Given the description of an element on the screen output the (x, y) to click on. 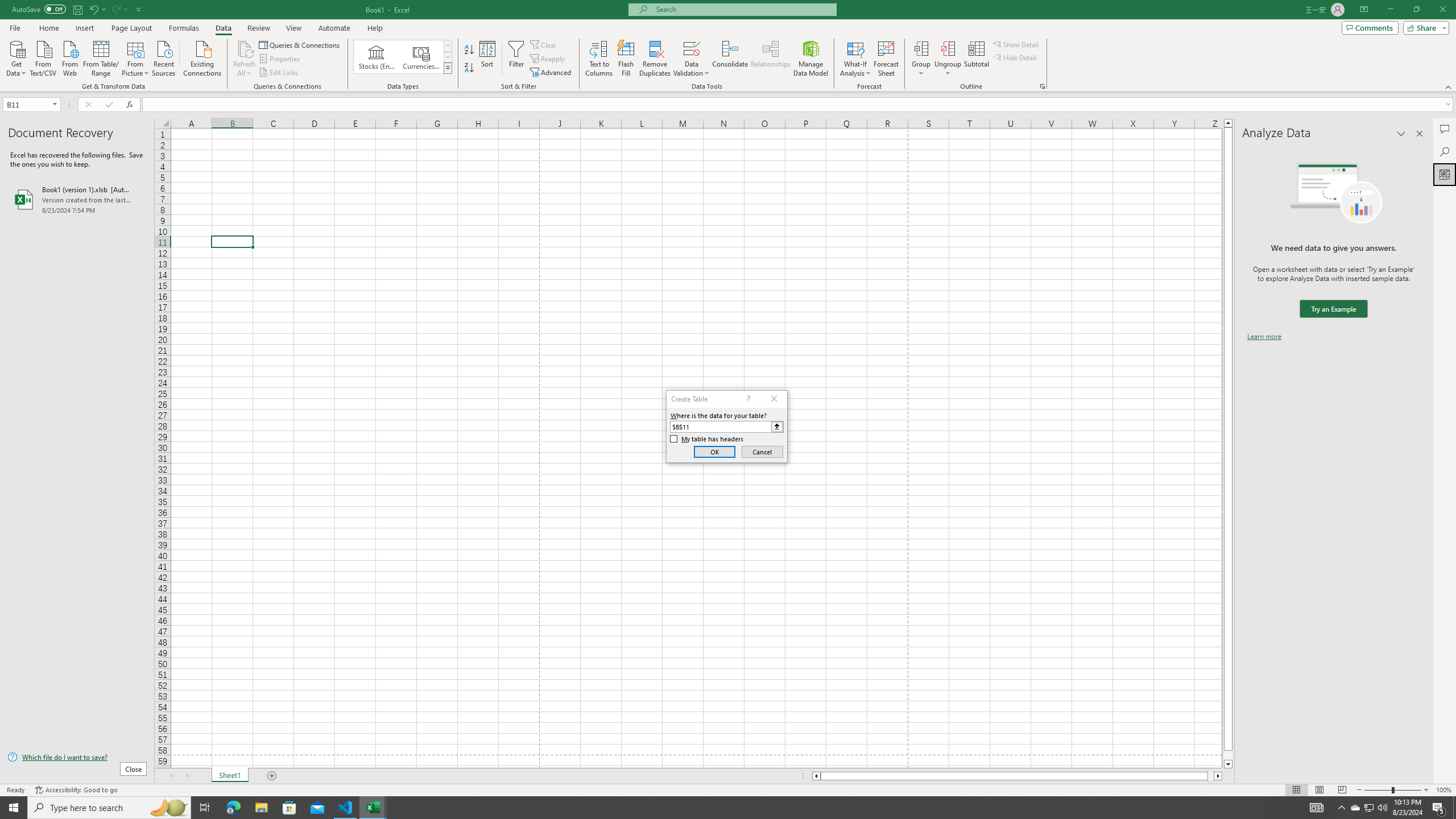
Row Down (448, 56)
Stocks (English) (375, 56)
Task Pane Options (1400, 133)
Restore Down (1416, 9)
Recent Sources (163, 57)
Collapse the Ribbon (1448, 86)
Home (48, 28)
Manage Data Model (810, 58)
Class: MsoCommandBar (728, 45)
Column right (1218, 775)
Line up (1228, 122)
Group and Outline Settings (1042, 85)
Data Types (448, 67)
Data Validation... (691, 48)
